Given the description of an element on the screen output the (x, y) to click on. 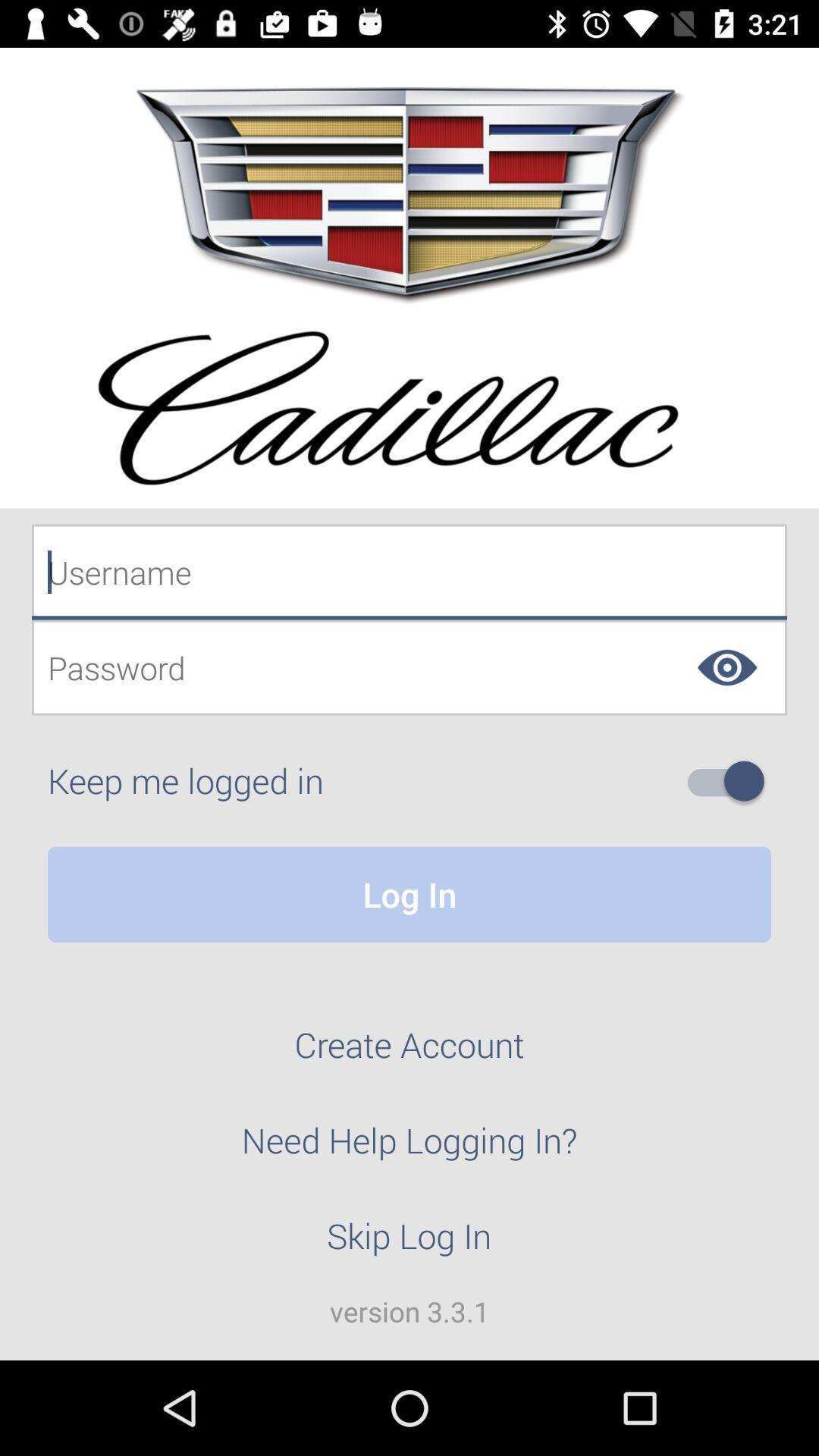
do not keep me logged in (731, 781)
